Given the description of an element on the screen output the (x, y) to click on. 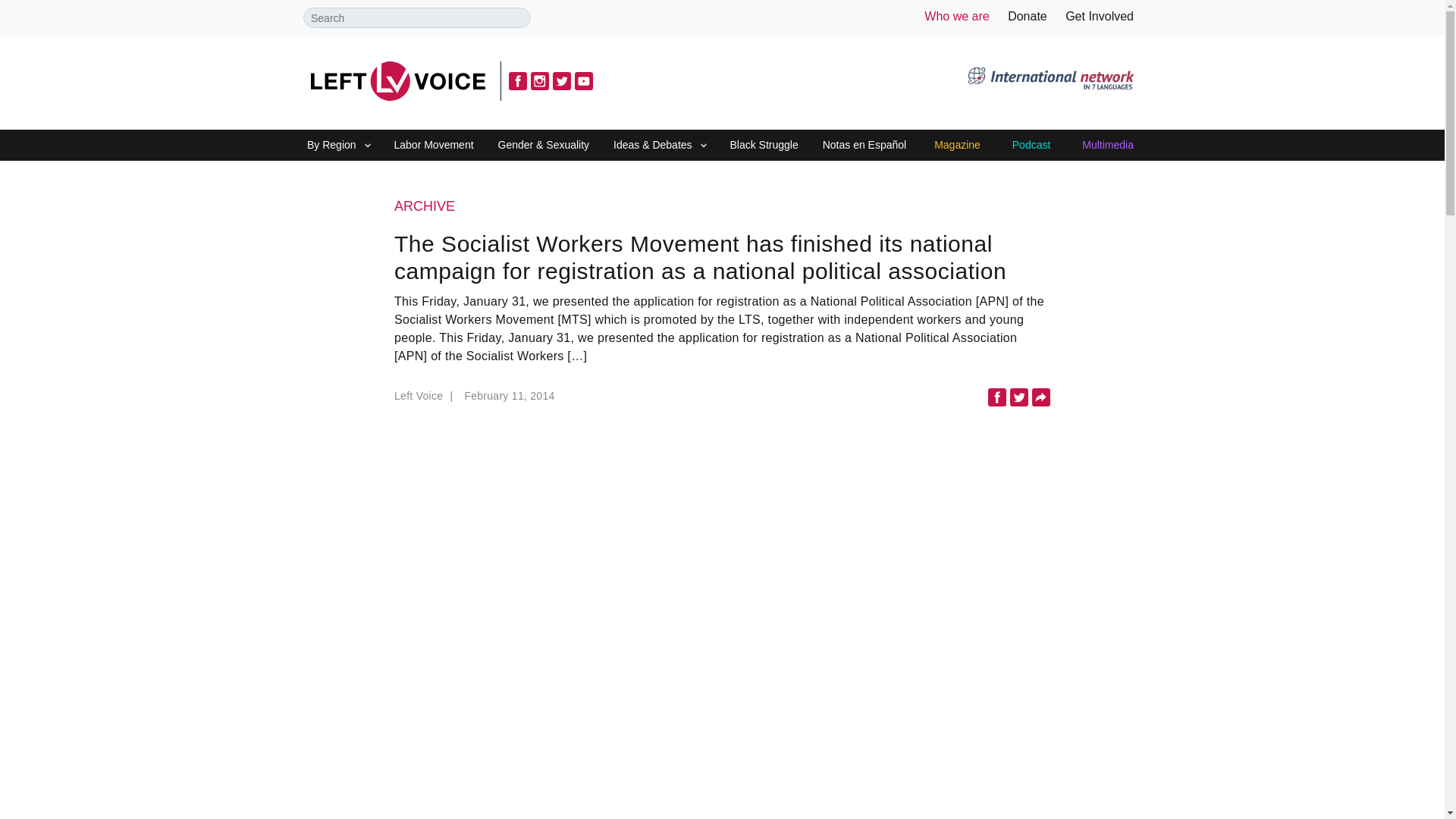
ARCHIVE (721, 207)
Donate (1027, 15)
International Network (1050, 80)
By Region (330, 145)
Multimedia (1107, 145)
Black Struggle (763, 145)
Left Voice (425, 399)
Get Involved (1099, 15)
Who we are (956, 15)
Magazine (957, 145)
Podcast (1031, 145)
Left Voice (397, 80)
Labor Movement (433, 145)
